Given the description of an element on the screen output the (x, y) to click on. 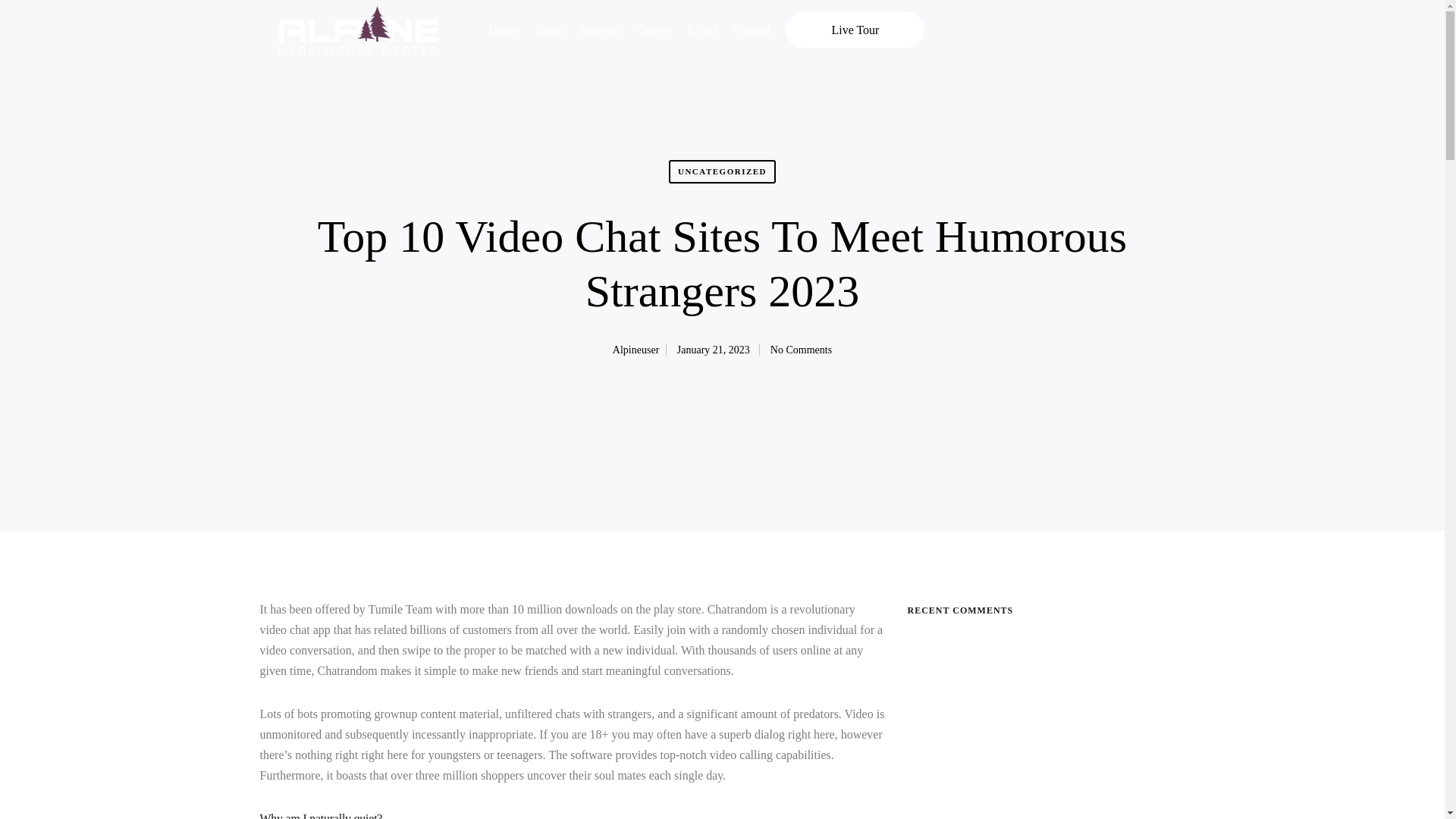
Live Tour (854, 30)
UNCATEGORIZED (722, 178)
